Given the description of an element on the screen output the (x, y) to click on. 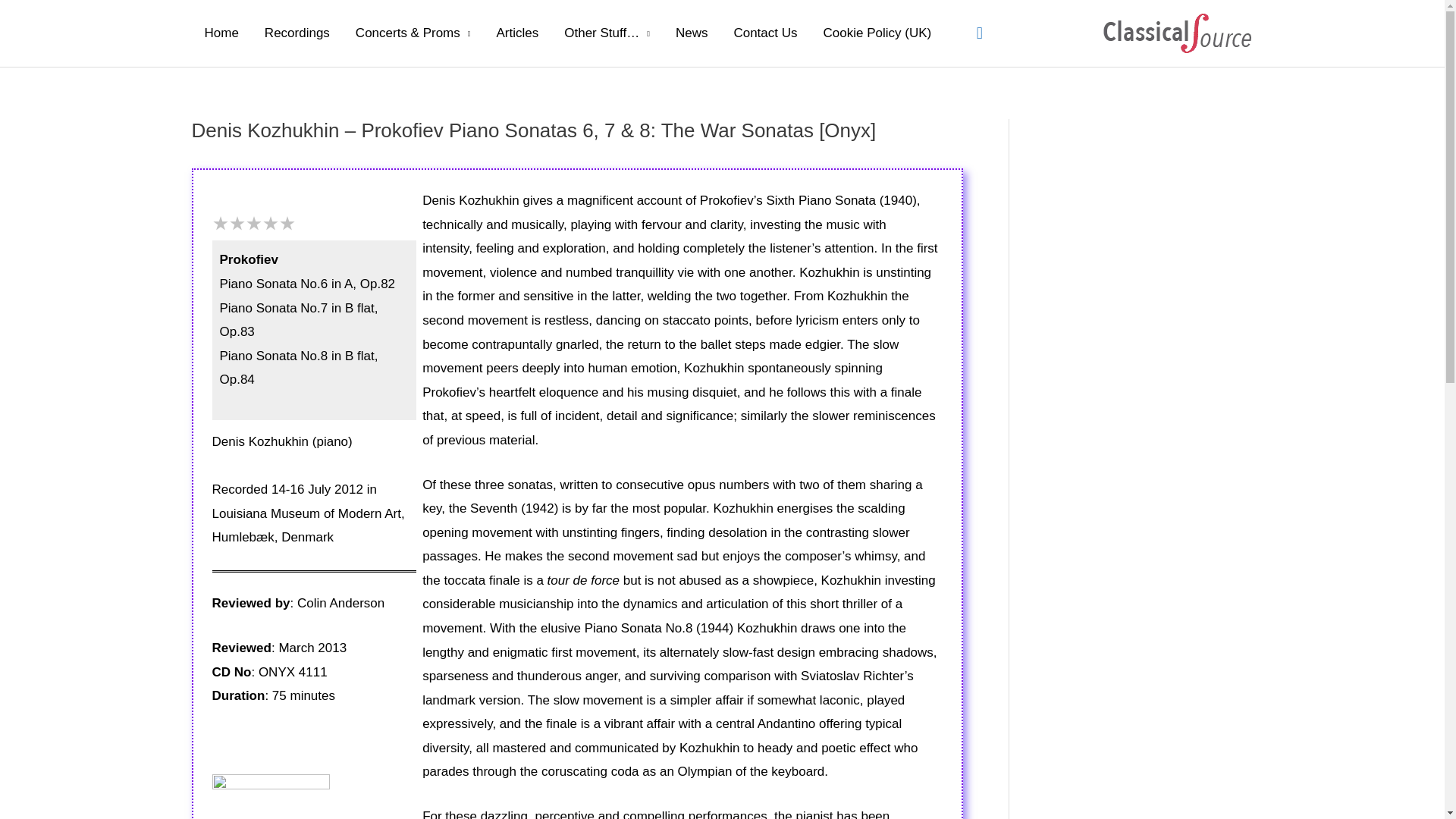
Contact Us (764, 33)
Home (220, 33)
Articles (517, 33)
Search (979, 33)
News (691, 33)
Recordings (296, 33)
